Given the description of an element on the screen output the (x, y) to click on. 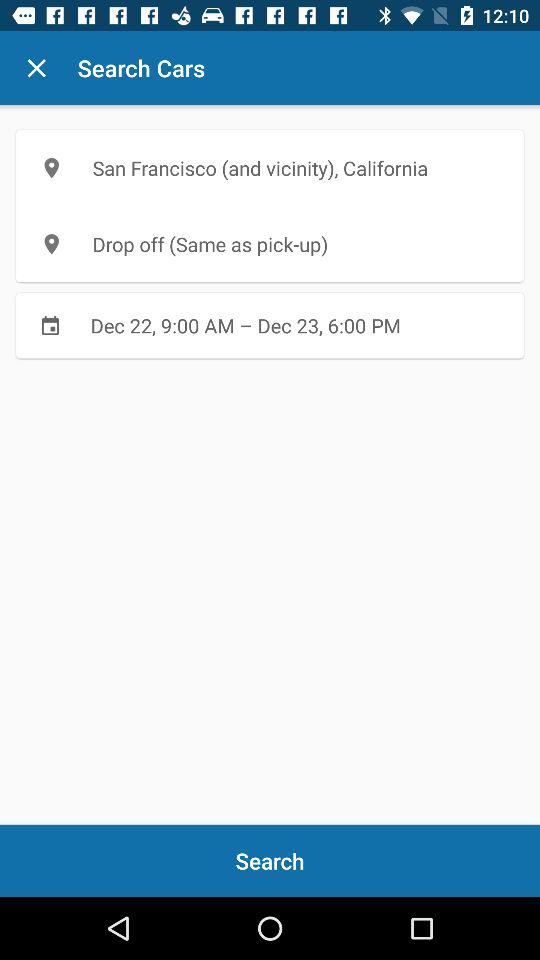
turn on the drop off same icon (269, 244)
